Given the description of an element on the screen output the (x, y) to click on. 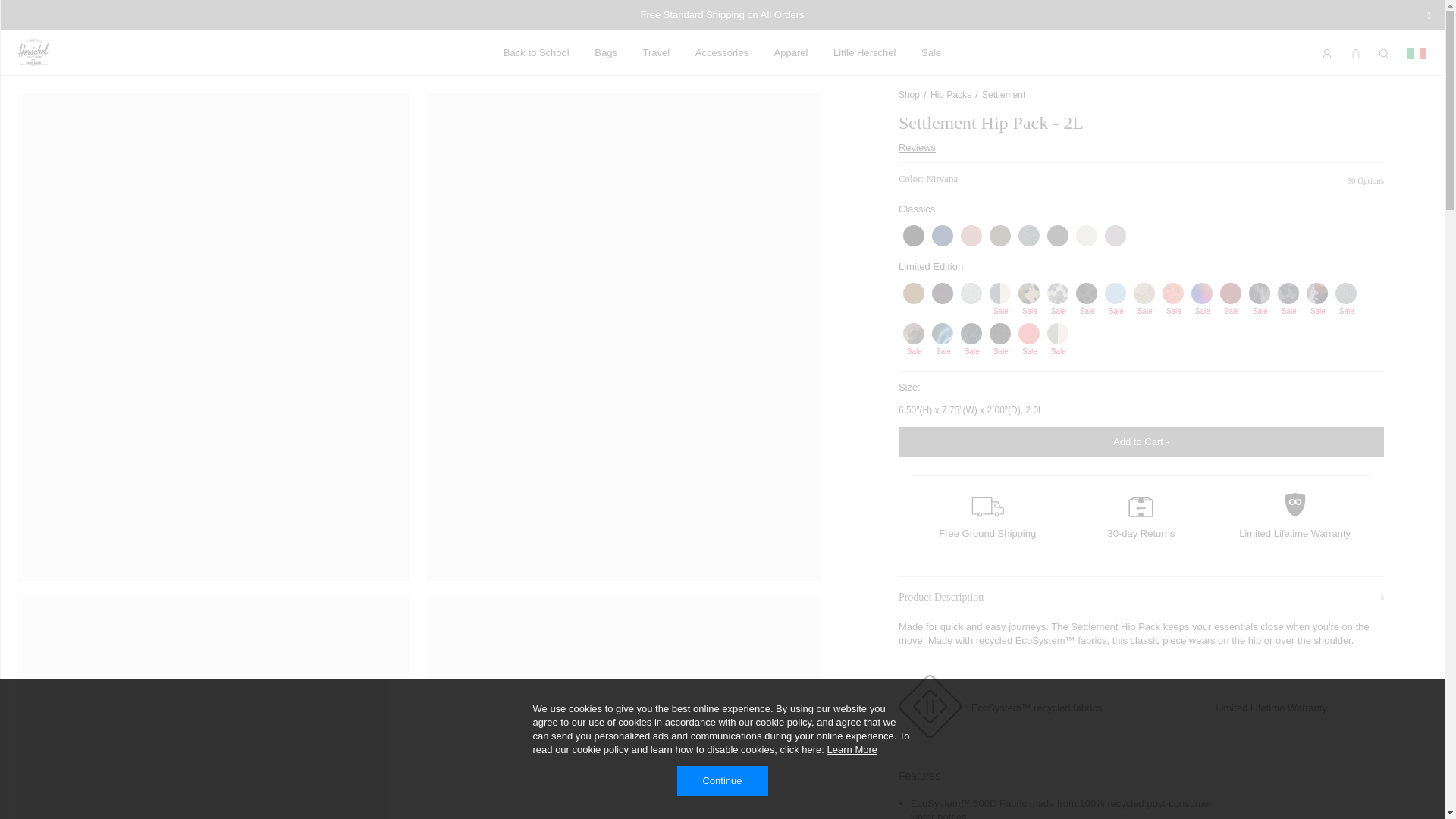
Cart (1356, 53)
Sale (930, 52)
Little Herschel (863, 52)
Bags (605, 52)
Search (1383, 53)
Account (1327, 53)
Travel (656, 52)
Apparel (791, 52)
Accessories (721, 52)
Back to School (536, 52)
